Given the description of an element on the screen output the (x, y) to click on. 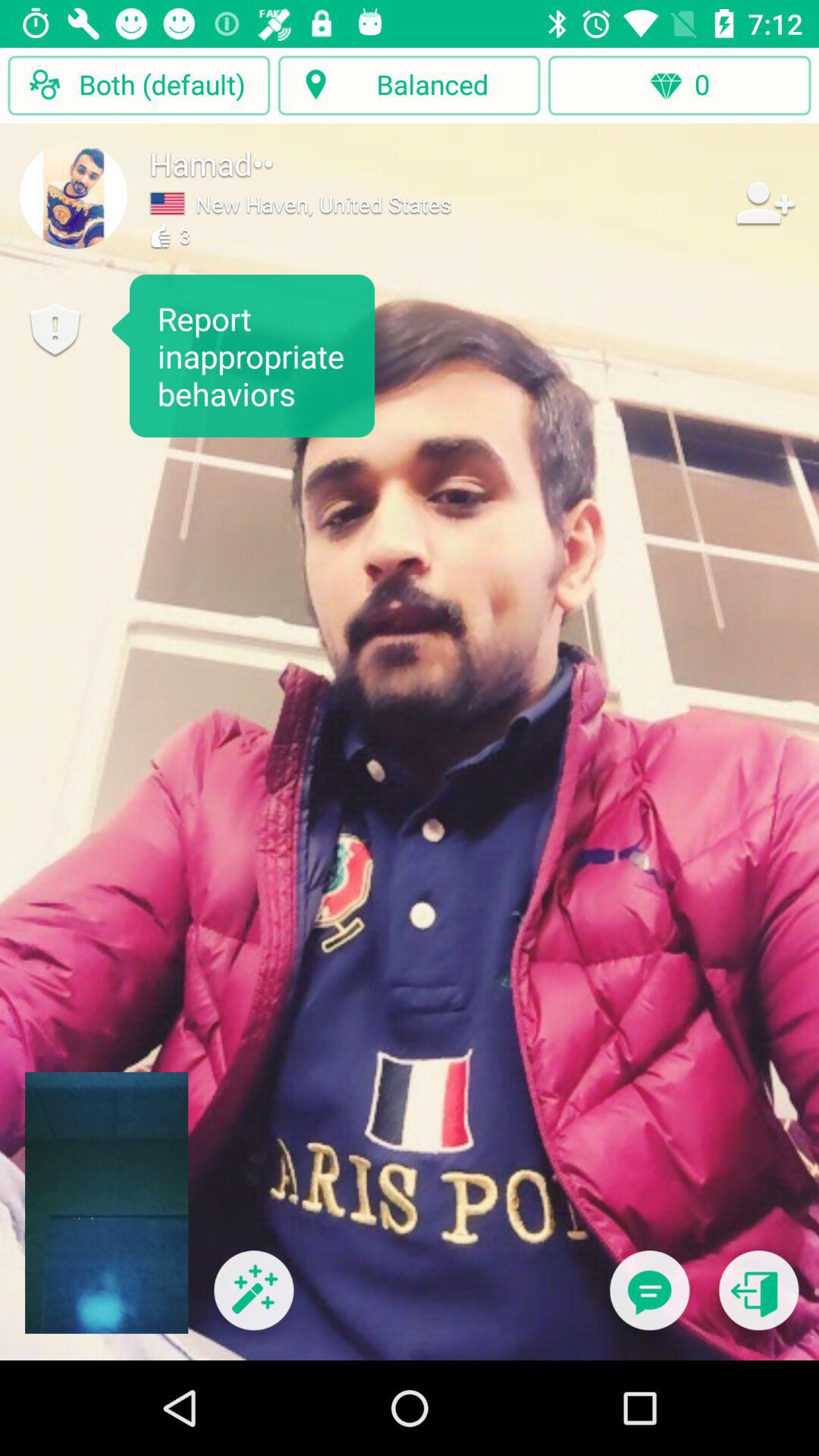
exit (758, 1300)
